Given the description of an element on the screen output the (x, y) to click on. 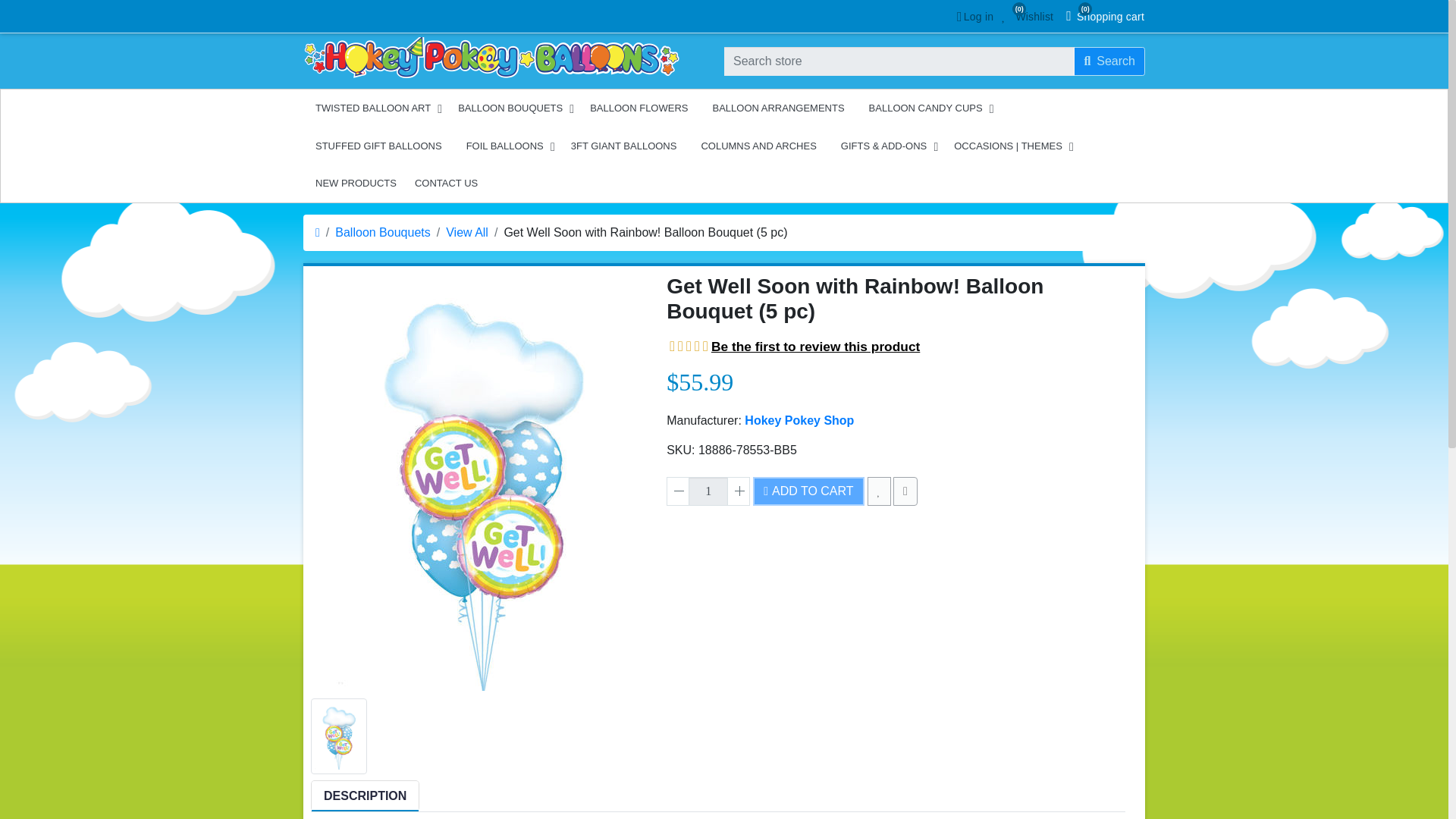
Logo (490, 57)
TWISTED BALLOON ART (373, 108)
Log in (1109, 61)
1 (972, 15)
BALLOON BOUQUETS (707, 491)
